Given the description of an element on the screen output the (x, y) to click on. 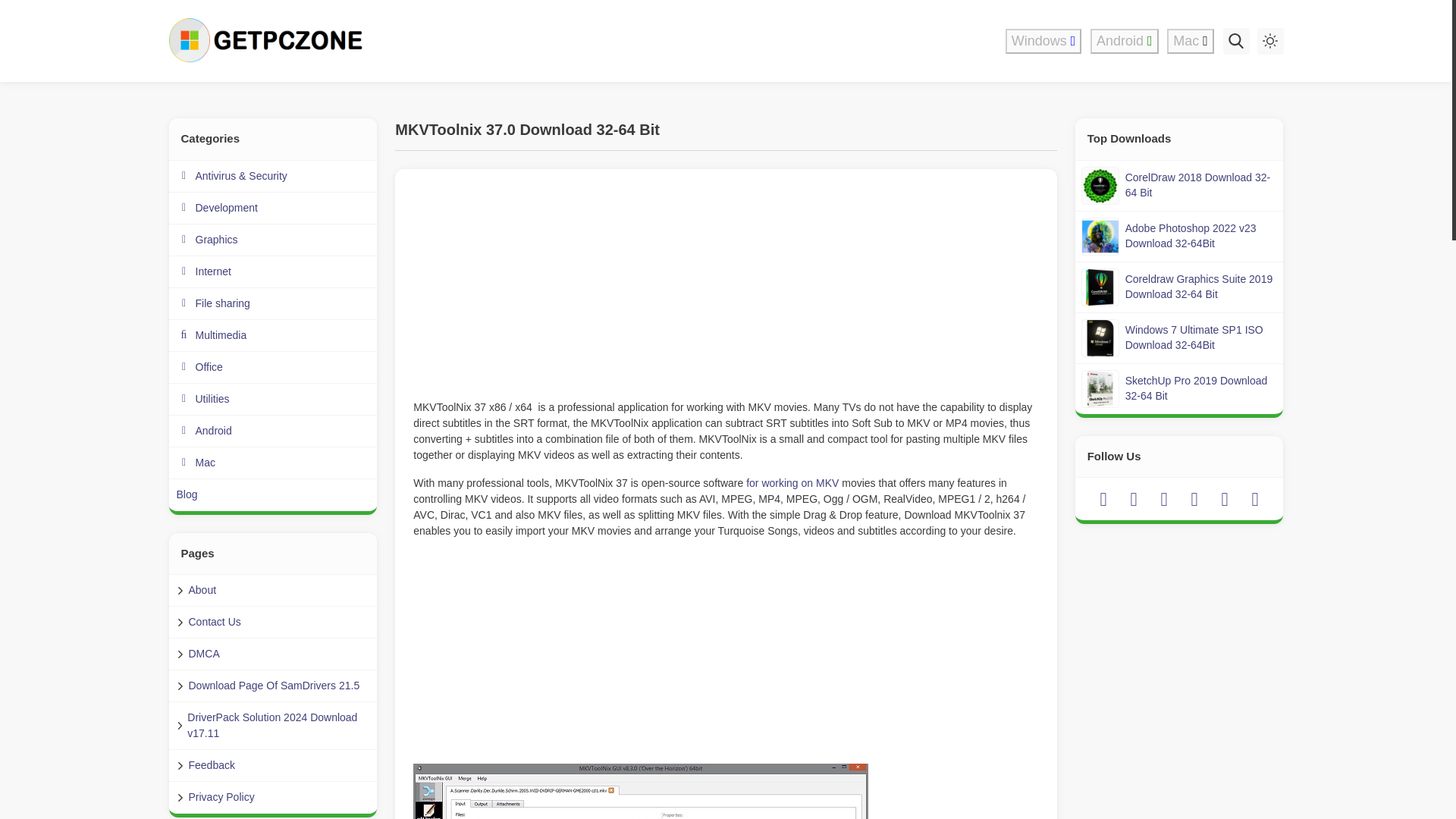
Mac (1190, 41)
Development (272, 208)
Windows (1043, 41)
Internet (272, 272)
File sharing (272, 304)
Graphics (272, 240)
Office (272, 368)
Android (1124, 41)
Multimedia (272, 336)
MKVToolnix 37.0 Download 32-64 Bit (640, 791)
Getpczone (268, 40)
Utilities (272, 399)
